Given the description of an element on the screen output the (x, y) to click on. 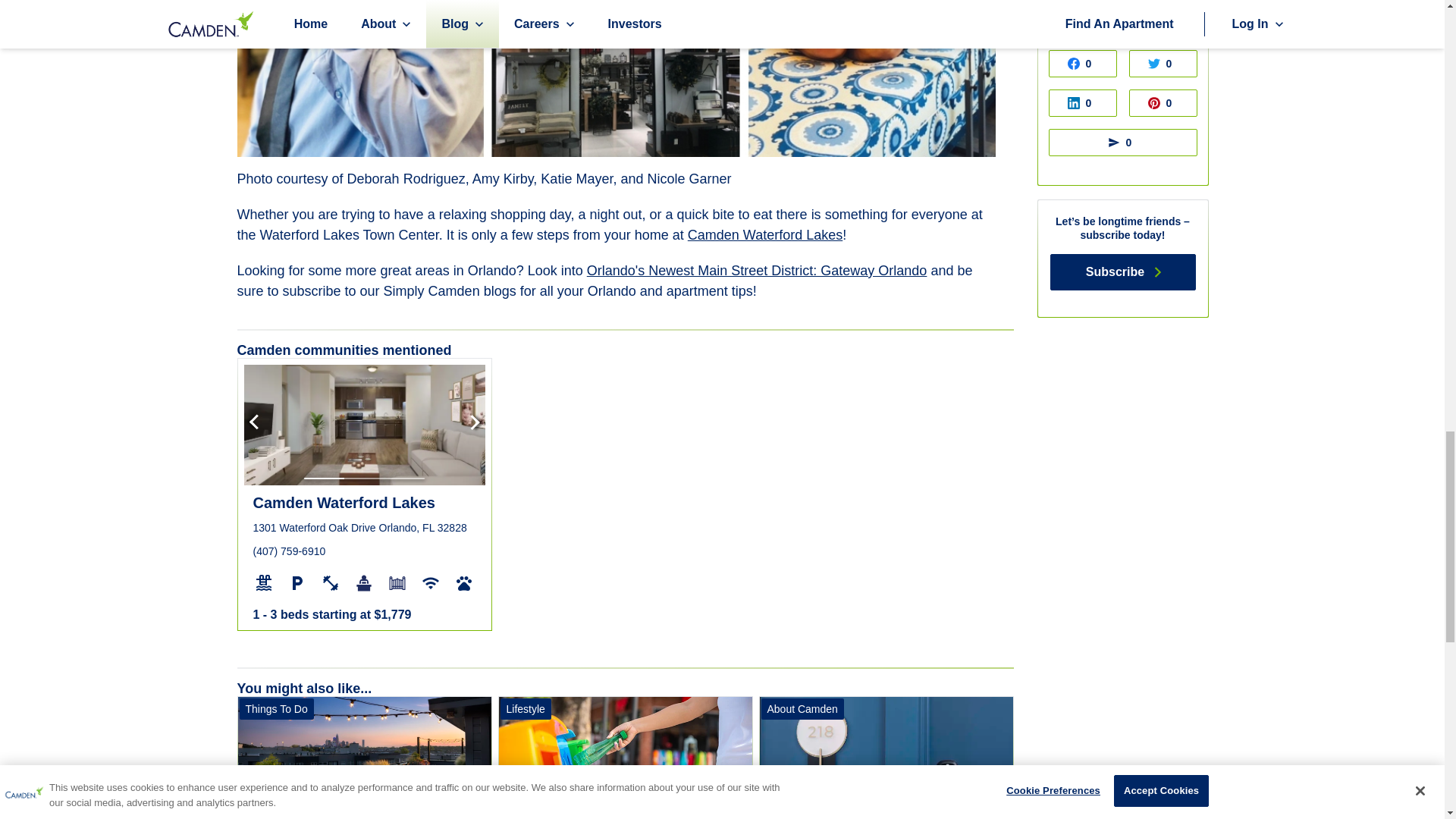
Camden Waterford Lakes (765, 234)
